Given the description of an element on the screen output the (x, y) to click on. 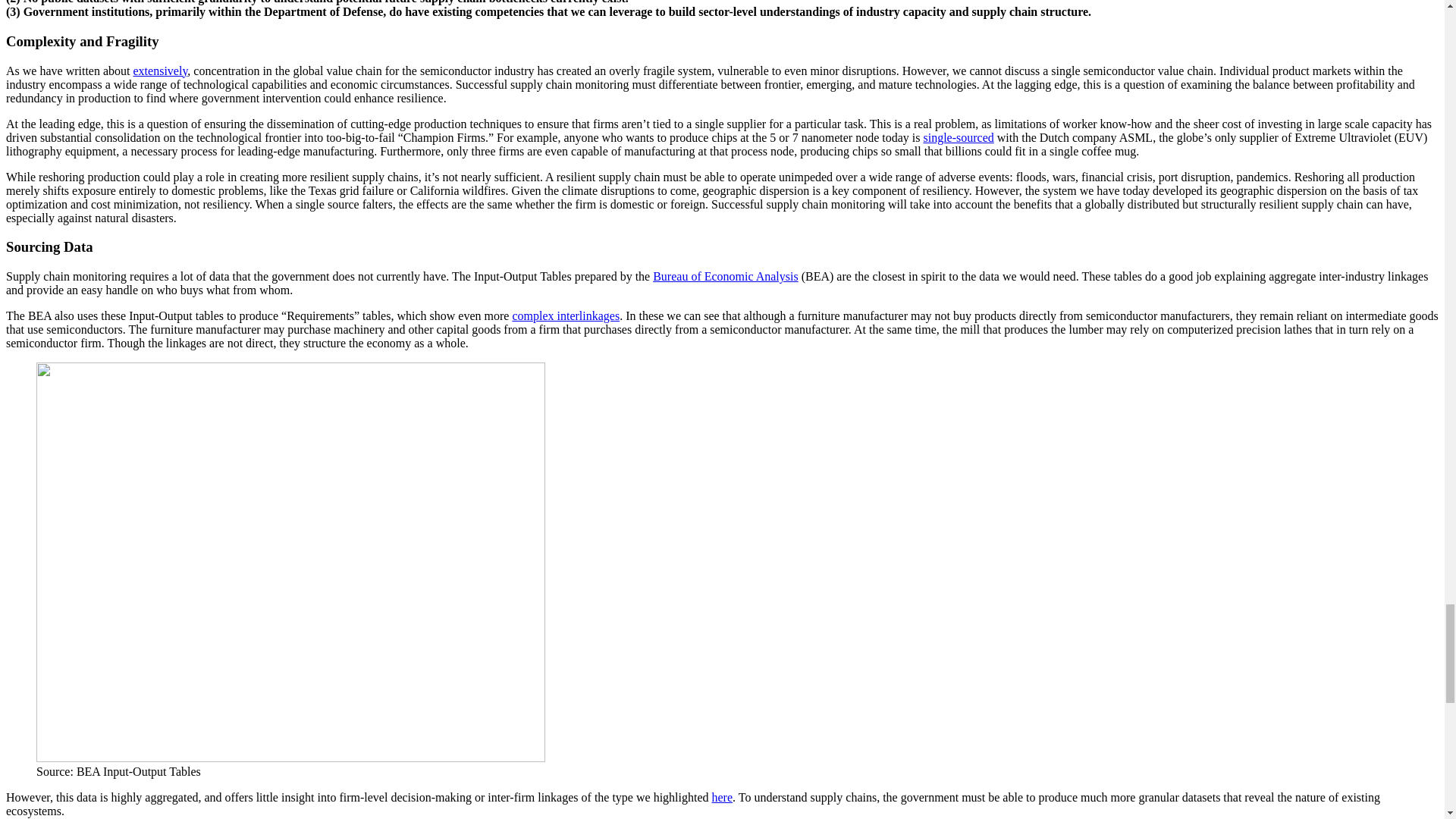
here (722, 797)
single-sourced (958, 136)
extensively (160, 69)
Bureau of Economic Analysis (724, 276)
complex interlinkages (566, 315)
